Given the description of an element on the screen output the (x, y) to click on. 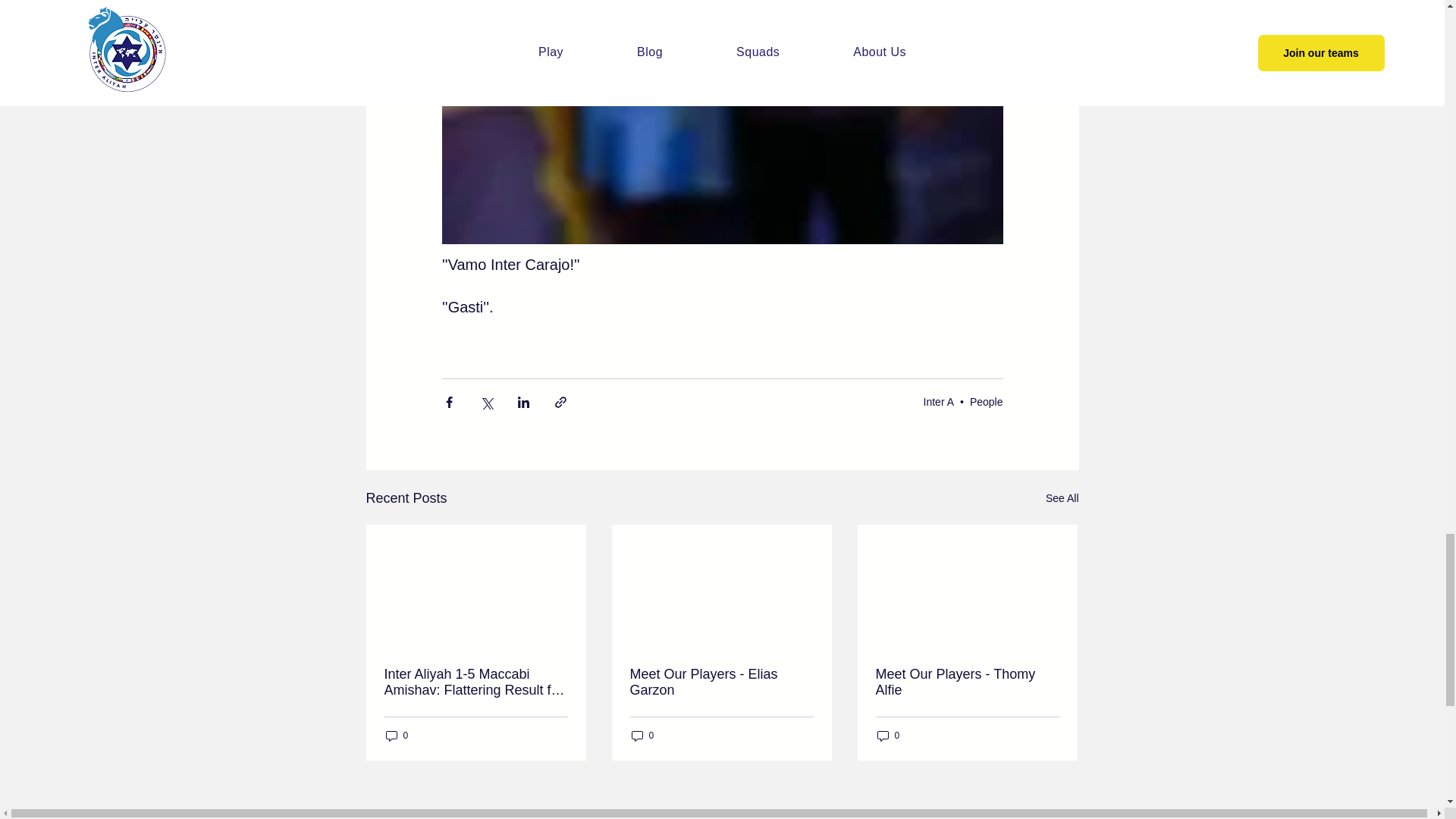
0 (396, 735)
Inter A (938, 401)
People (986, 401)
Meet Our Players - Thomy Alfie (966, 682)
See All (1061, 498)
0 (641, 735)
0 (888, 735)
Meet Our Players - Elias Garzon (720, 682)
